Given the description of an element on the screen output the (x, y) to click on. 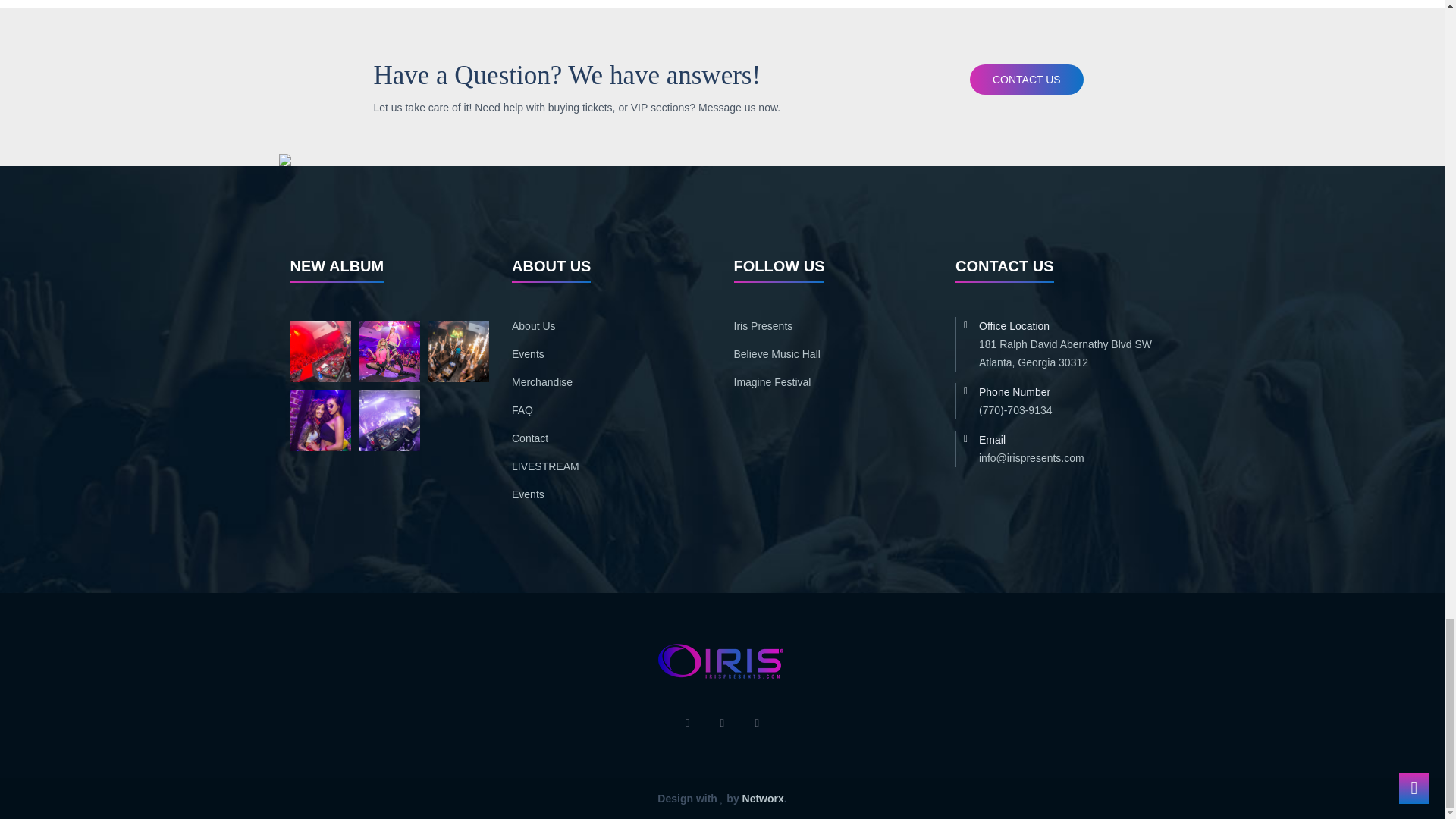
logo (721, 661)
CONTACT US (1026, 79)
